Given the description of an element on the screen output the (x, y) to click on. 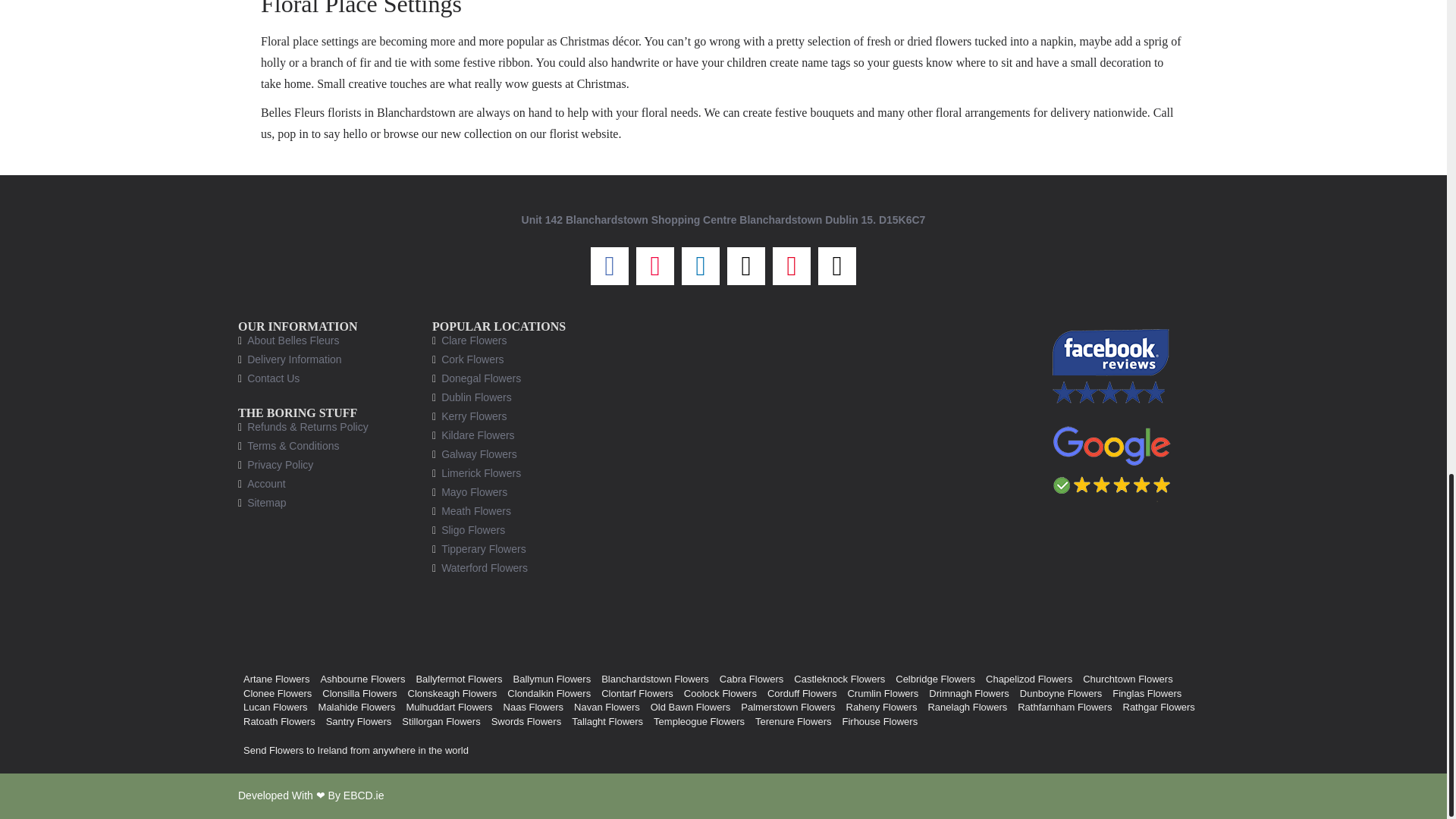
Find Belles Fleurs On Facebook (1111, 365)
Find A Local Dublin Florist On A Map (820, 478)
Find Belles Fleurs On Google (1111, 459)
